Given the description of an element on the screen output the (x, y) to click on. 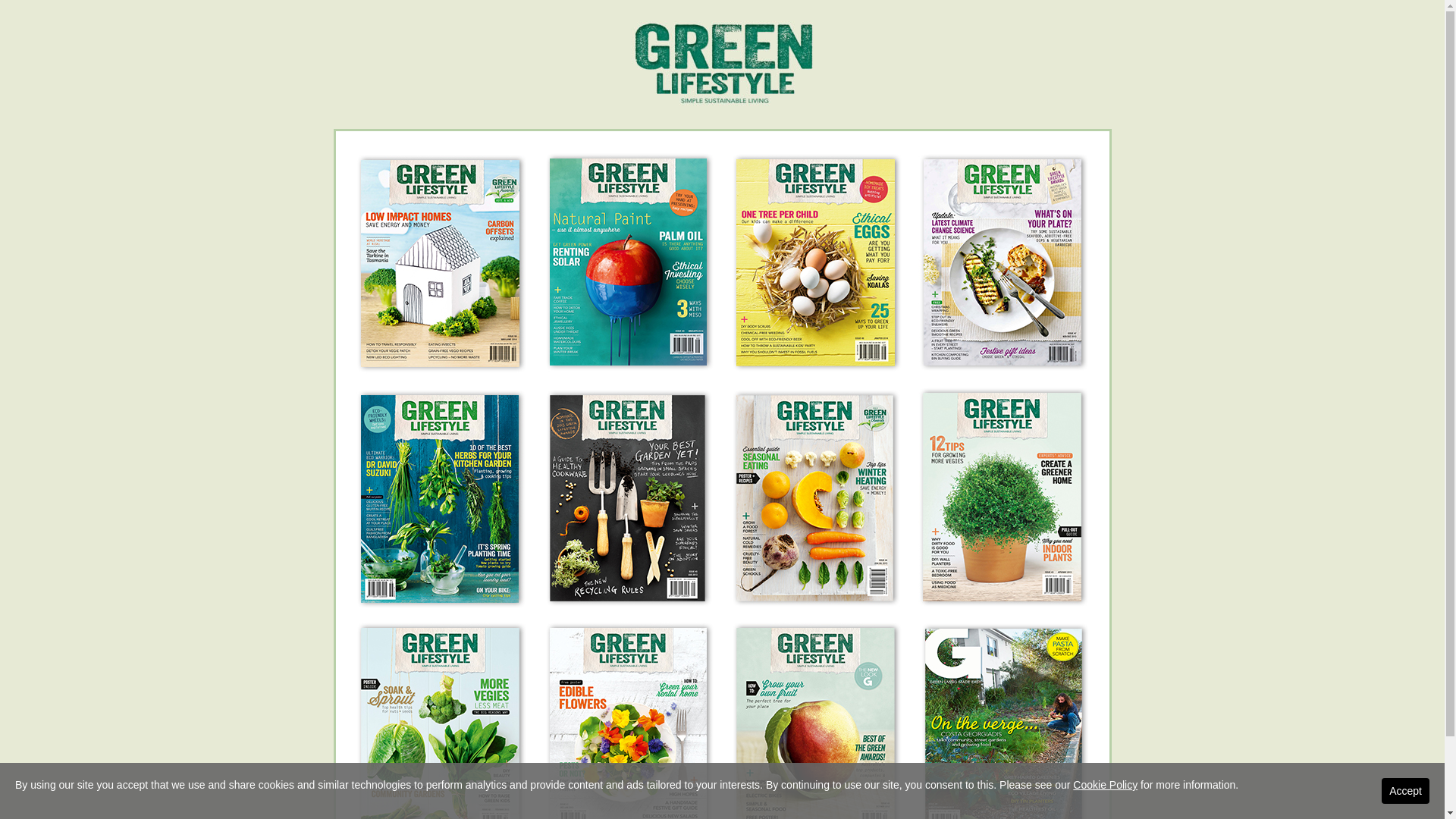
Cookie Policy Element type: text (1105, 784)
Accept Element type: text (1405, 790)
